Given the description of an element on the screen output the (x, y) to click on. 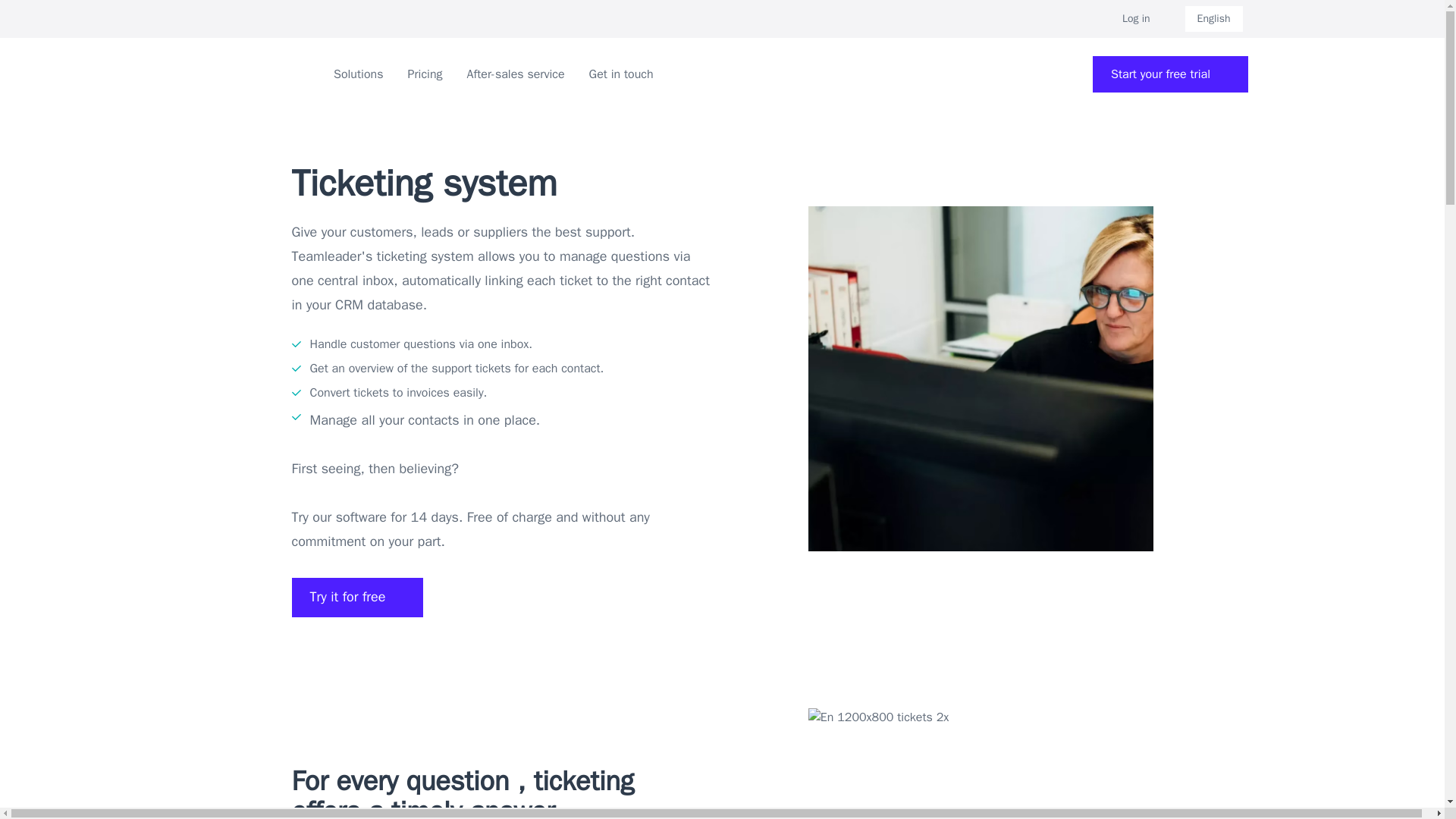
Try it for free (357, 597)
Pricing (424, 73)
English (1214, 18)
After-sales service (515, 73)
Log in (1144, 18)
Start your free trial (1170, 74)
Solutions (357, 74)
Get in touch (621, 73)
